Given the description of an element on the screen output the (x, y) to click on. 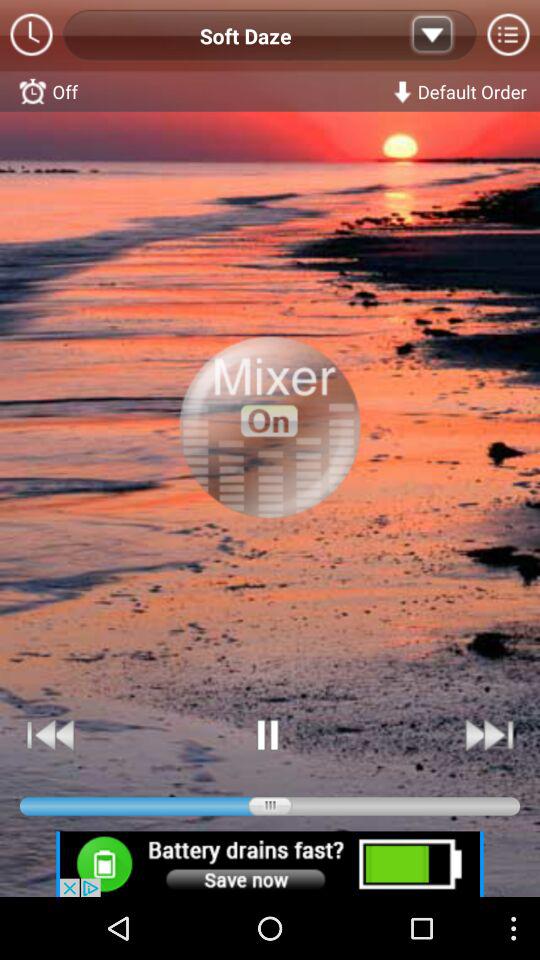
switch on the clcok (31, 35)
